Given the description of an element on the screen output the (x, y) to click on. 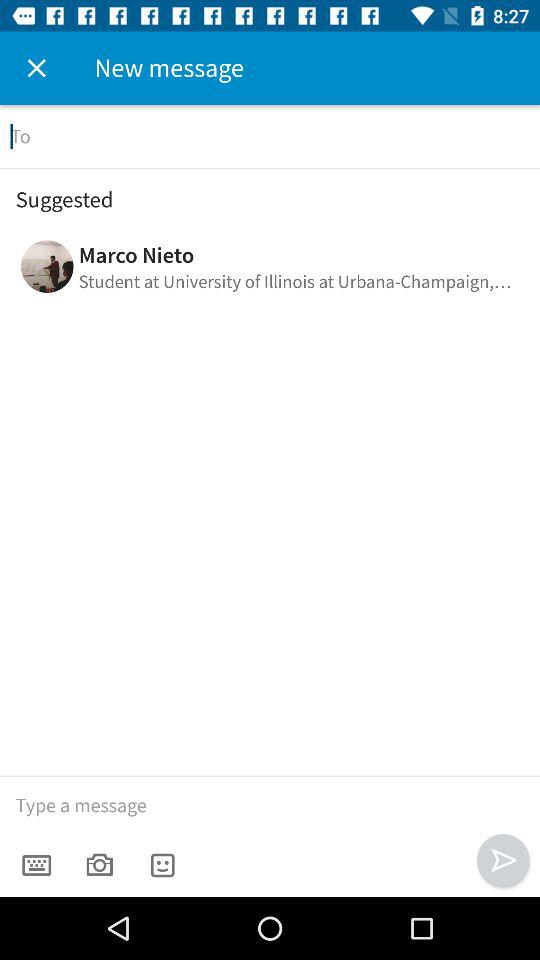
go to address (269, 136)
